Given the description of an element on the screen output the (x, y) to click on. 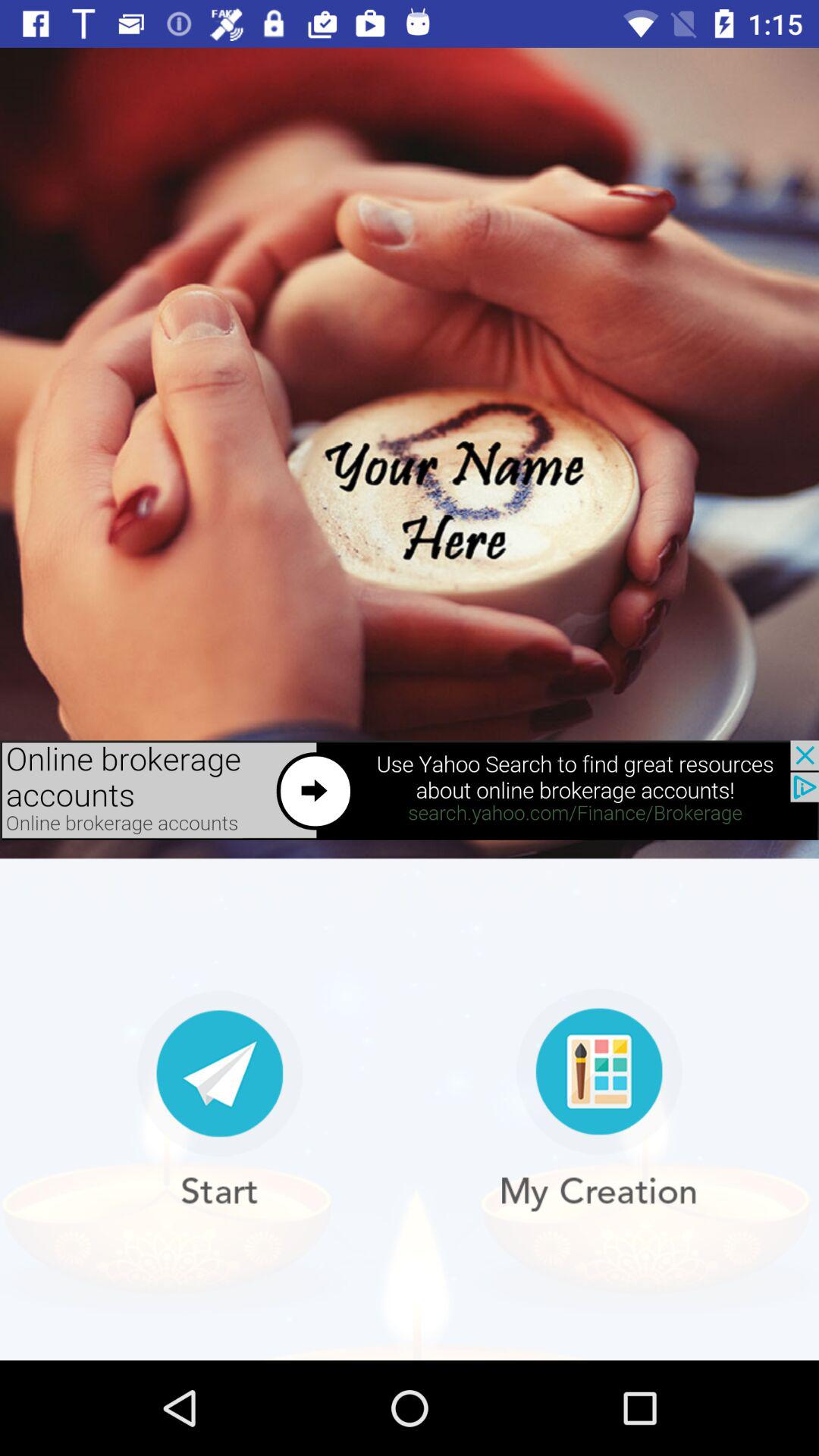
advertisement (409, 790)
